Given the description of an element on the screen output the (x, y) to click on. 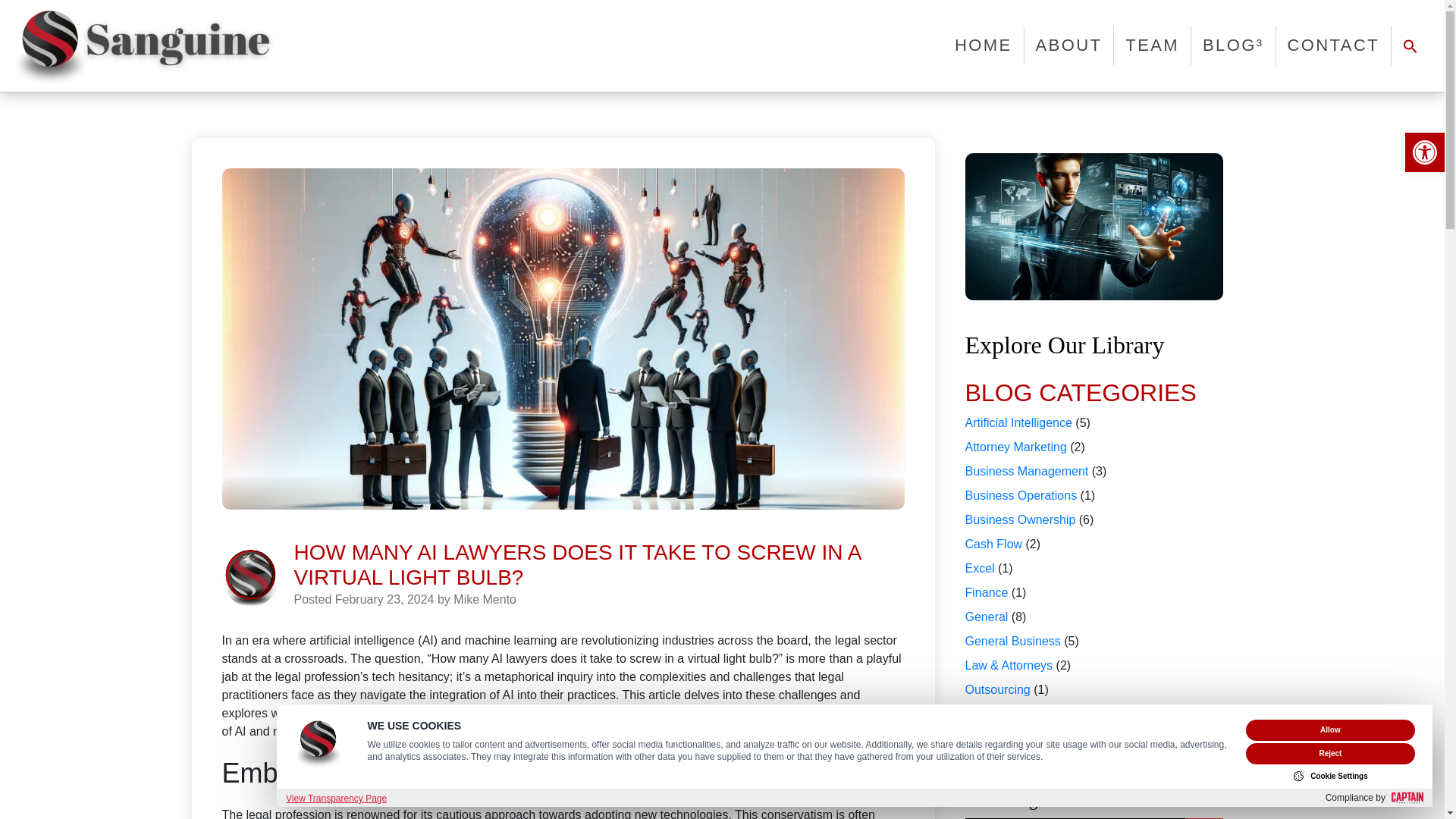
Attorney Marketing (1014, 446)
Business Management (1025, 471)
Business Operations (1020, 495)
HOME (983, 45)
Business Ownership (1019, 519)
ABOUT (1069, 45)
Accessibility Tools (1424, 152)
Artificial Intelligence (1017, 422)
TEAM (1152, 45)
black on black (144, 45)
Sanguine Service Icons (249, 577)
CONTACT (1333, 45)
